Given the description of an element on the screen output the (x, y) to click on. 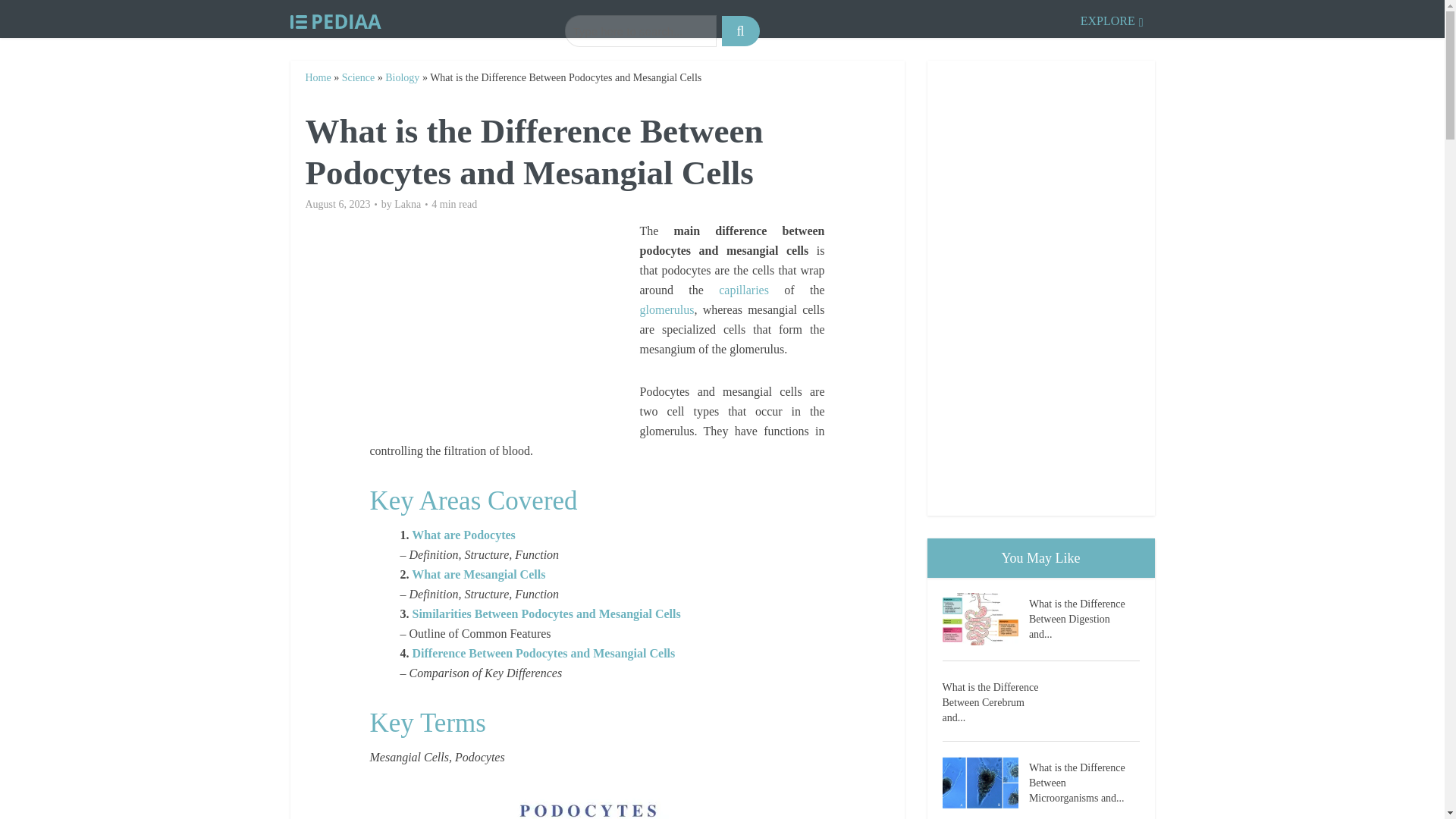
What is the Difference Between Digestion and Assimilation (984, 618)
Home (317, 77)
Similarities Between Podocytes and Mesangial Cells (546, 613)
Biology (402, 77)
Type here to search... (640, 30)
capillaries (743, 289)
pinit (596, 804)
Pediaa.Com (334, 18)
What are Mesangial Cells (478, 574)
Advertisement (504, 327)
EXPLORE (1111, 18)
Type here to search... (640, 30)
glomerulus (667, 309)
